Given the description of an element on the screen output the (x, y) to click on. 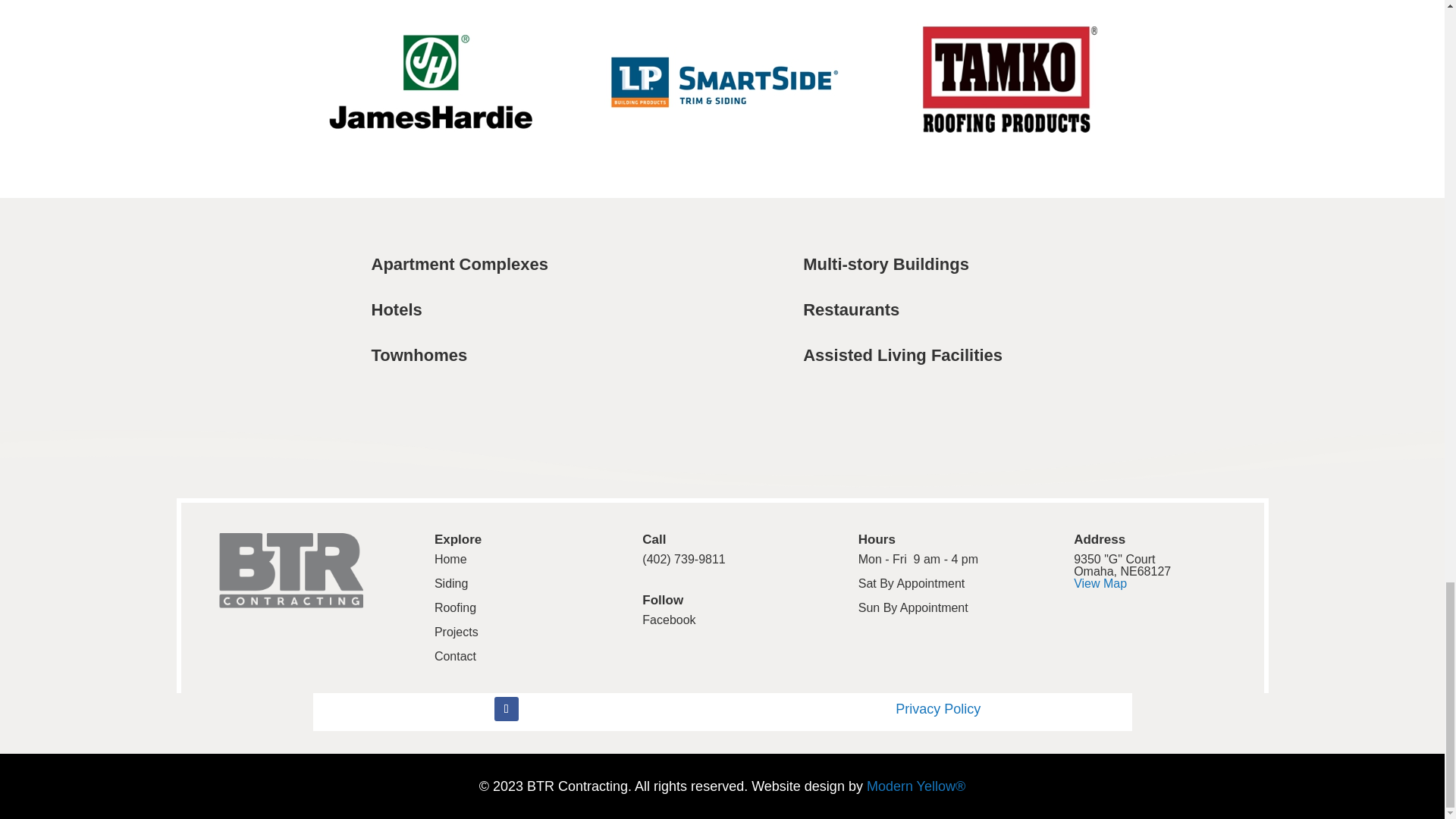
Siding (450, 583)
ome (453, 558)
Roofing (454, 607)
Follow on Facebook (506, 708)
Contact (454, 656)
Projects (456, 631)
Facebook (668, 619)
View Map (1100, 583)
